Given the description of an element on the screen output the (x, y) to click on. 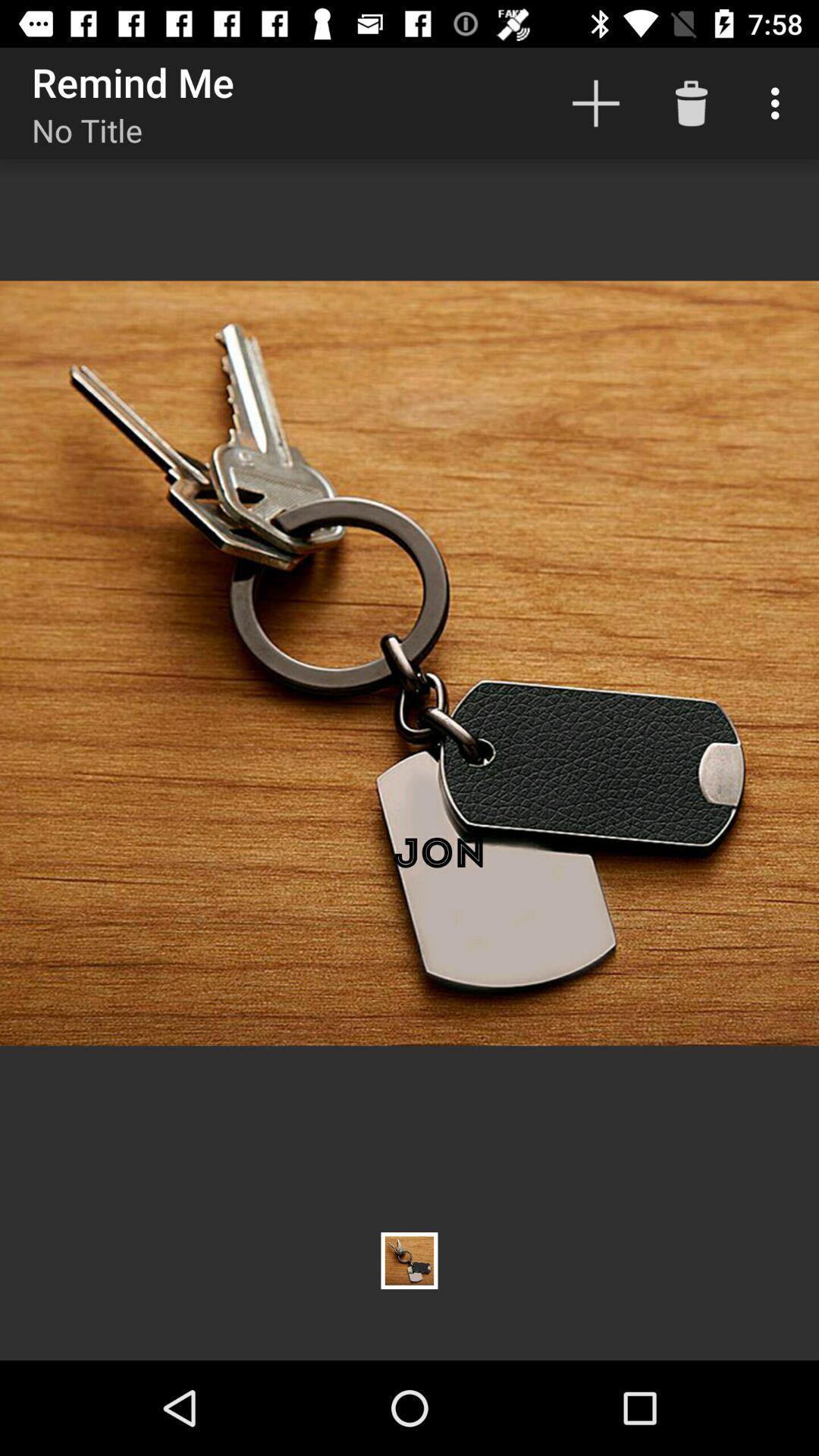
turn off the icon below the no title icon (409, 663)
